Given the description of an element on the screen output the (x, y) to click on. 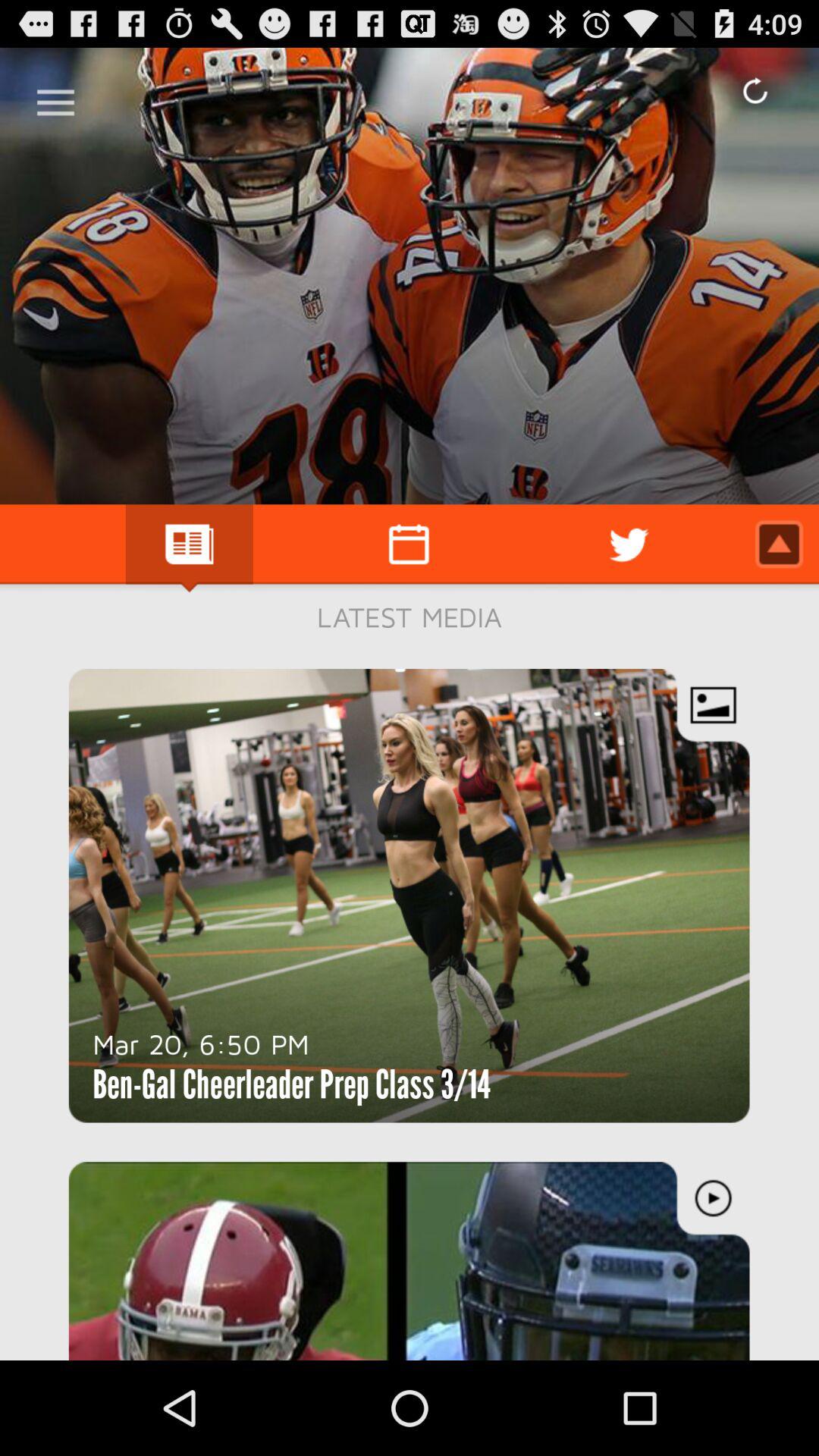
click the mar 20 6 item (200, 1043)
